Given the description of an element on the screen output the (x, y) to click on. 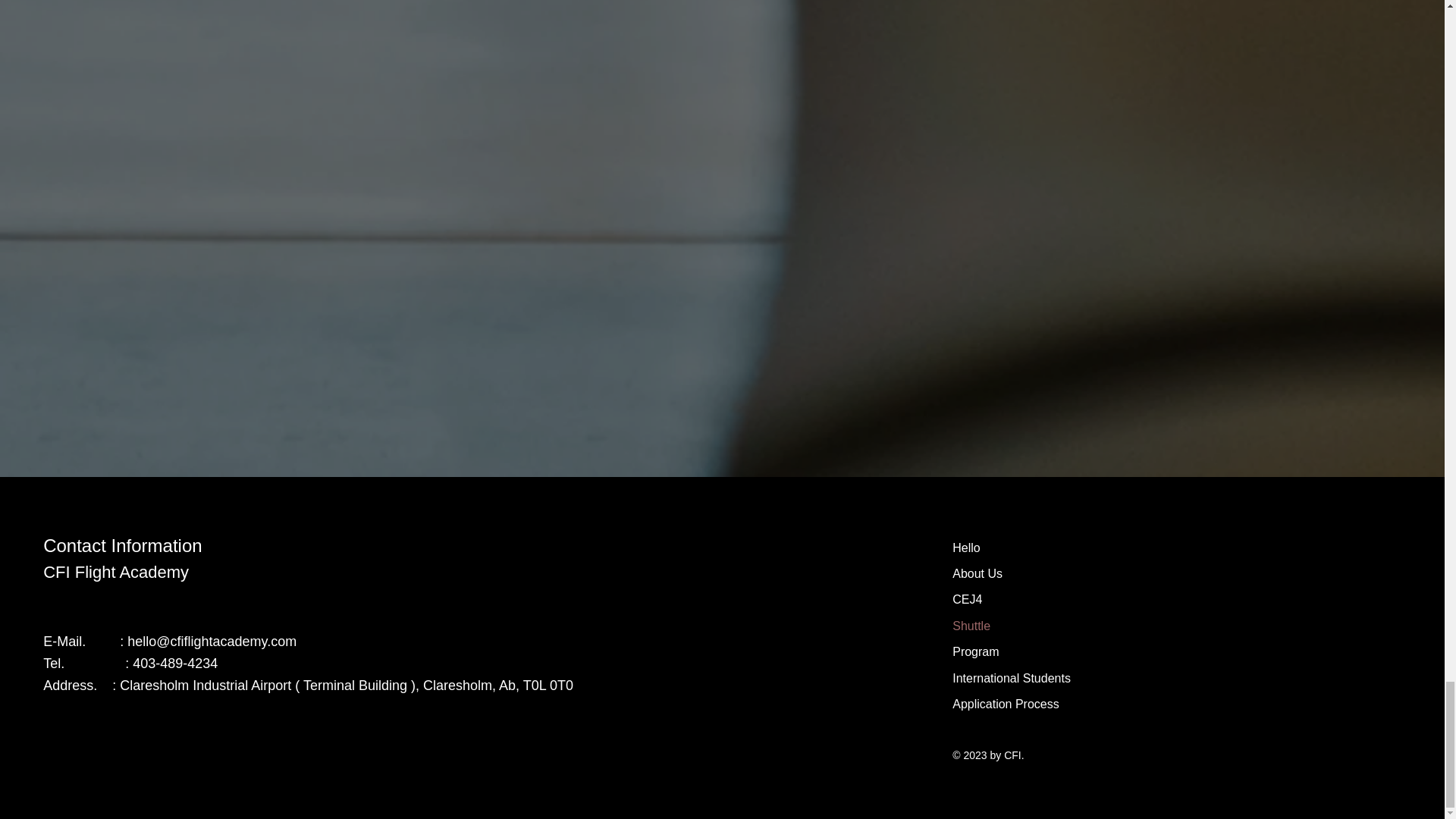
Shuttle (1013, 626)
Contact Information (122, 545)
About Us (1013, 574)
Hello (1013, 548)
International Students (1013, 678)
Application Process (1013, 704)
CEJ4 (1013, 599)
Program (1013, 652)
